Given the description of an element on the screen output the (x, y) to click on. 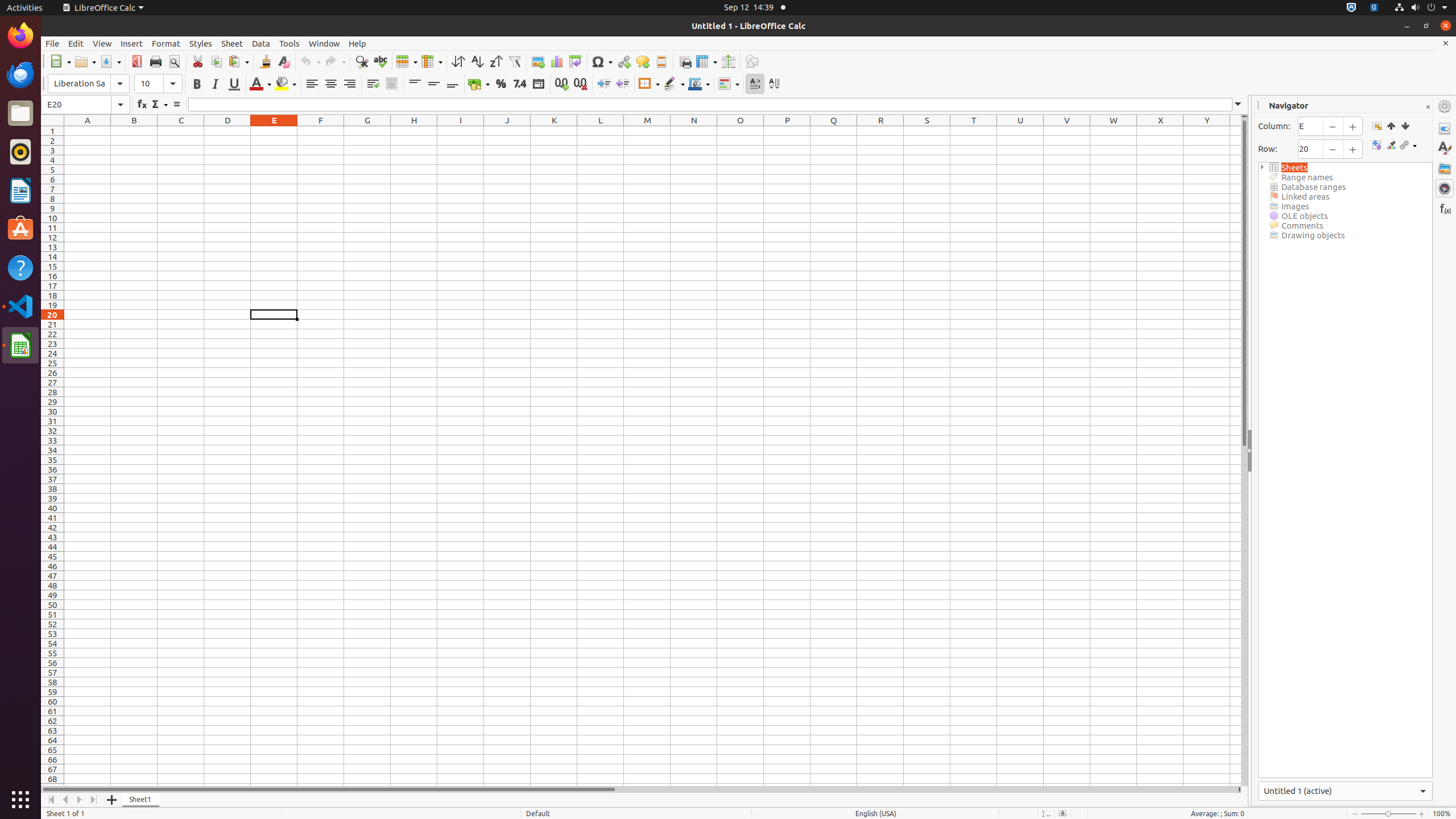
Image Element type: push-button (537, 61)
Freeze Rows and Columns Element type: push-button (705, 61)
C1 Element type: table-cell (180, 130)
U1 Element type: table-cell (1020, 130)
Move To Home Element type: push-button (51, 799)
